Given the description of an element on the screen output the (x, y) to click on. 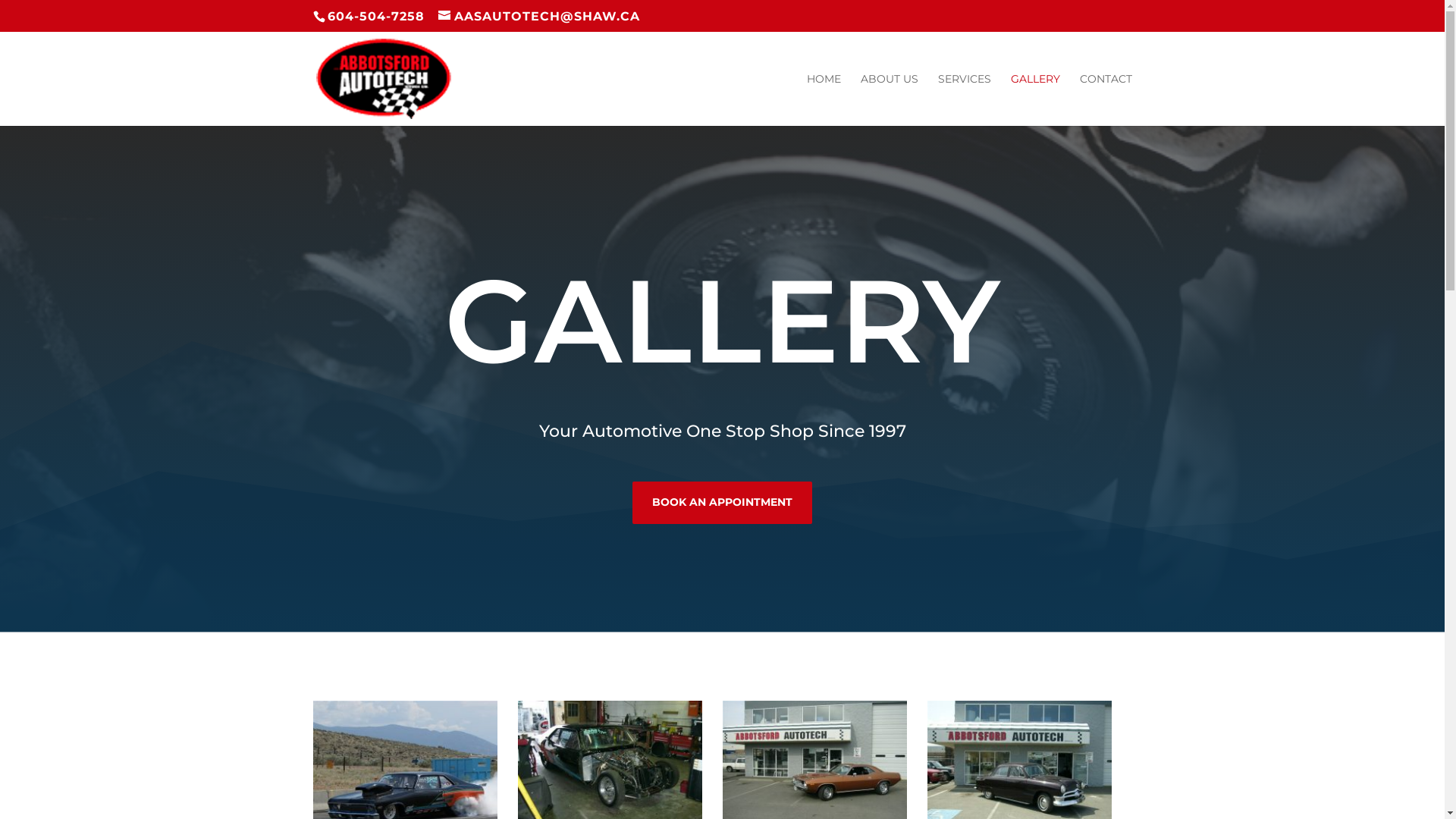
604-504-7258 Element type: text (372, 16)
CONTACT Element type: text (1105, 99)
SERVICES Element type: text (963, 99)
ABOUT US Element type: text (888, 99)
HOME Element type: text (823, 99)
BOOK AN APPOINTMENT Element type: text (722, 502)
AASAUTOTECH@SHAW.CA Element type: text (539, 16)
GALLERY Element type: text (1034, 99)
